Given the description of an element on the screen output the (x, y) to click on. 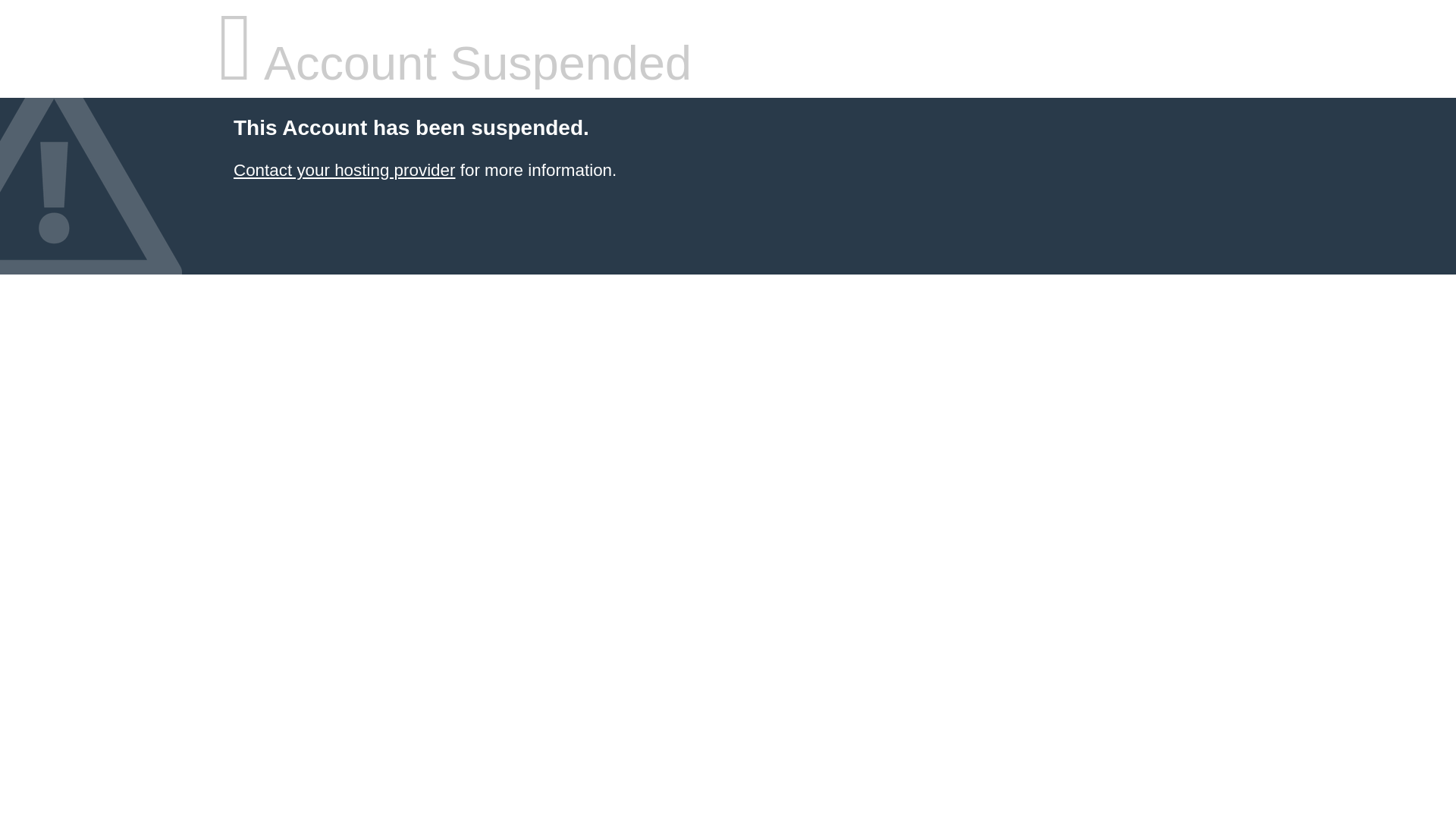
Contact your hosting provider (343, 169)
